Given the description of an element on the screen output the (x, y) to click on. 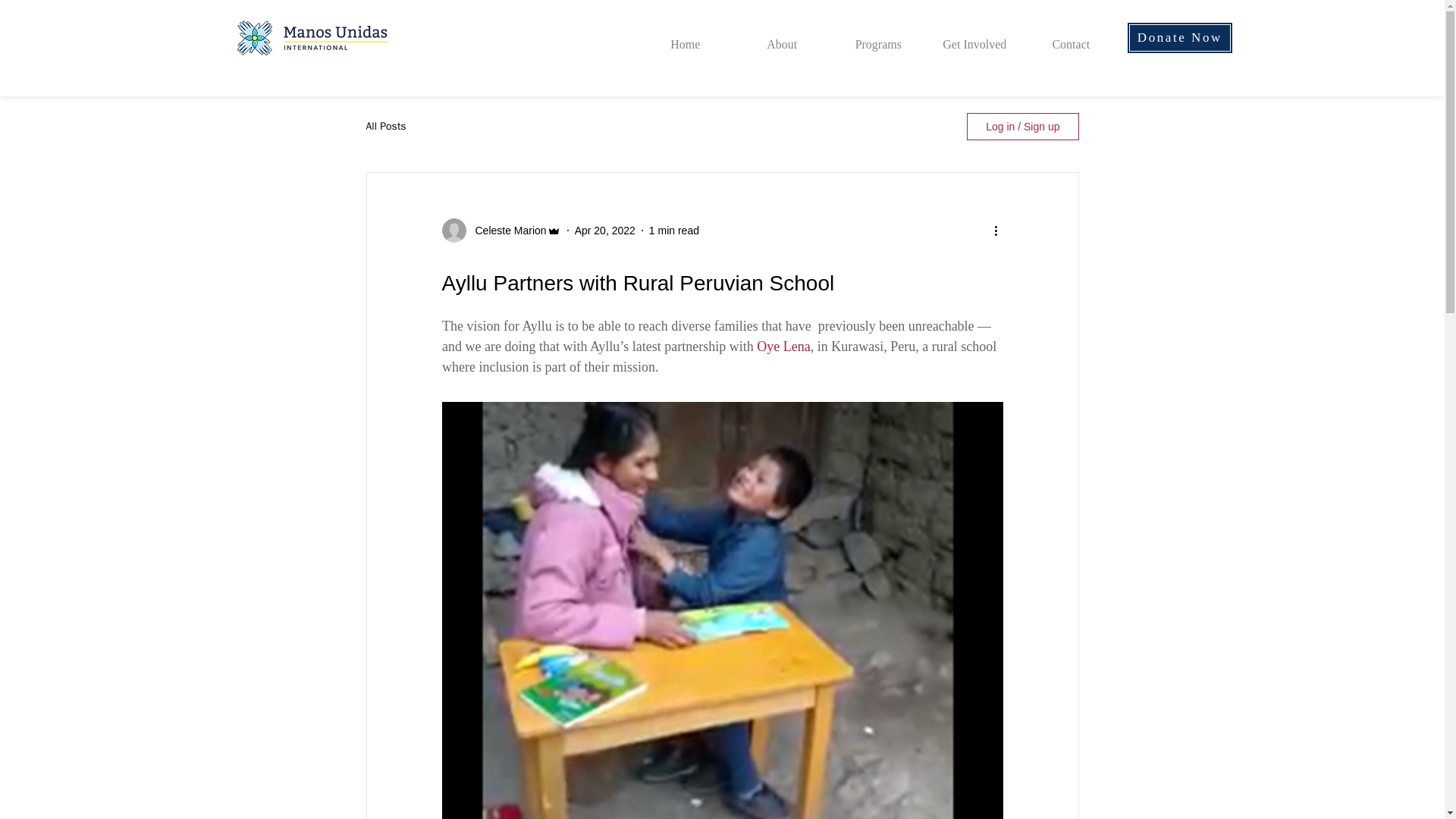
Apr 20, 2022 (604, 230)
1 min read (673, 230)
Celeste Marion  (505, 230)
Donate Now (1179, 38)
All Posts (385, 126)
Home (685, 37)
Contact (1071, 37)
ye Lena (788, 346)
